Given the description of an element on the screen output the (x, y) to click on. 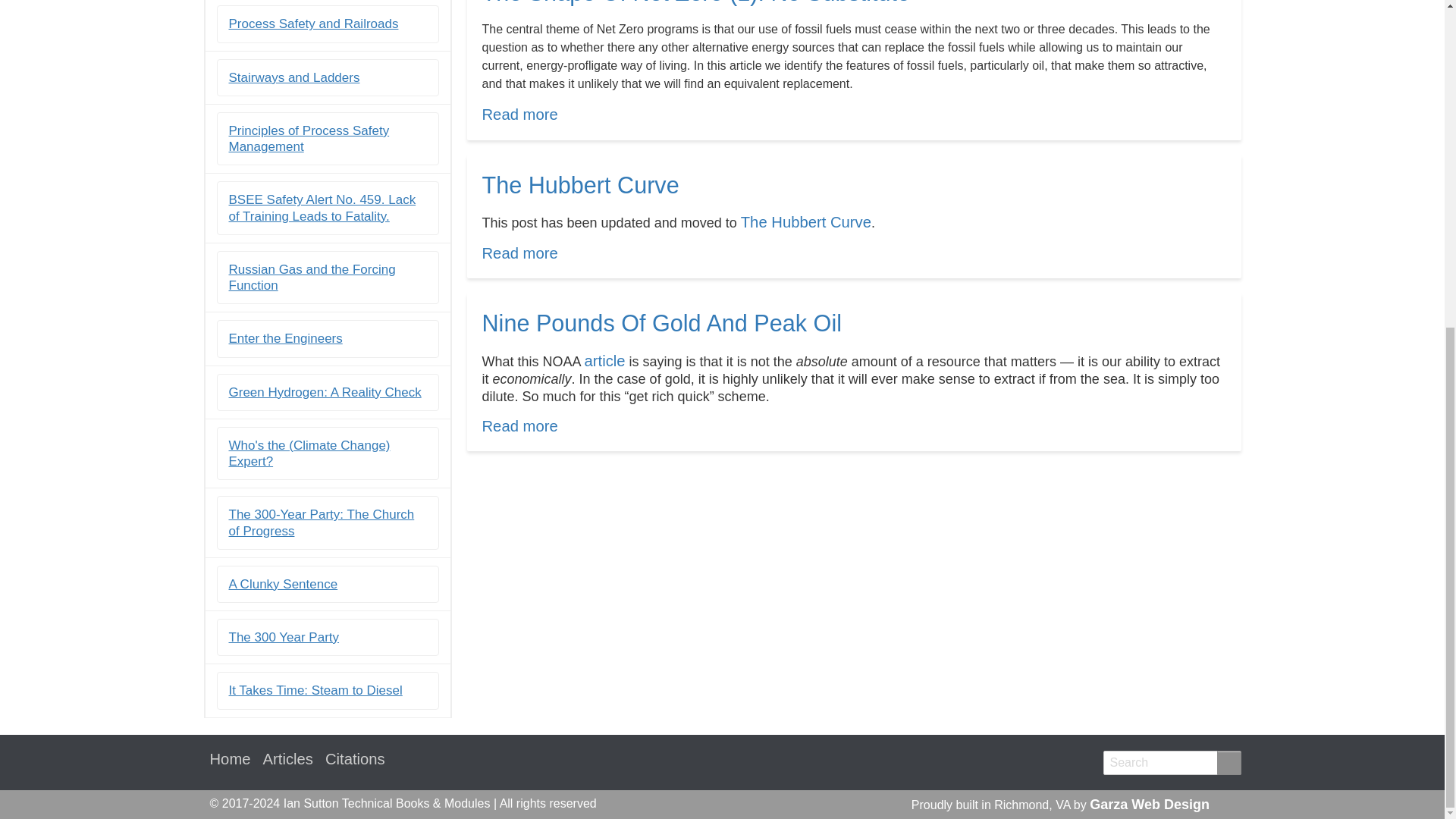
The Hubbert Curve (519, 252)
Green Hydrogen: A Reality Check (325, 391)
Russian Gas and the Forcing Function (312, 277)
The 300-Year Party: The Church of Progress (321, 521)
Enter the Engineers (285, 338)
Enter the terms you wish to search for. (1171, 762)
Homepage (229, 759)
The Hubbert Curve (805, 221)
Search (519, 252)
Process Safety and Railroads (1227, 762)
article (313, 23)
Stairways and Ladders (519, 425)
